Given the description of an element on the screen output the (x, y) to click on. 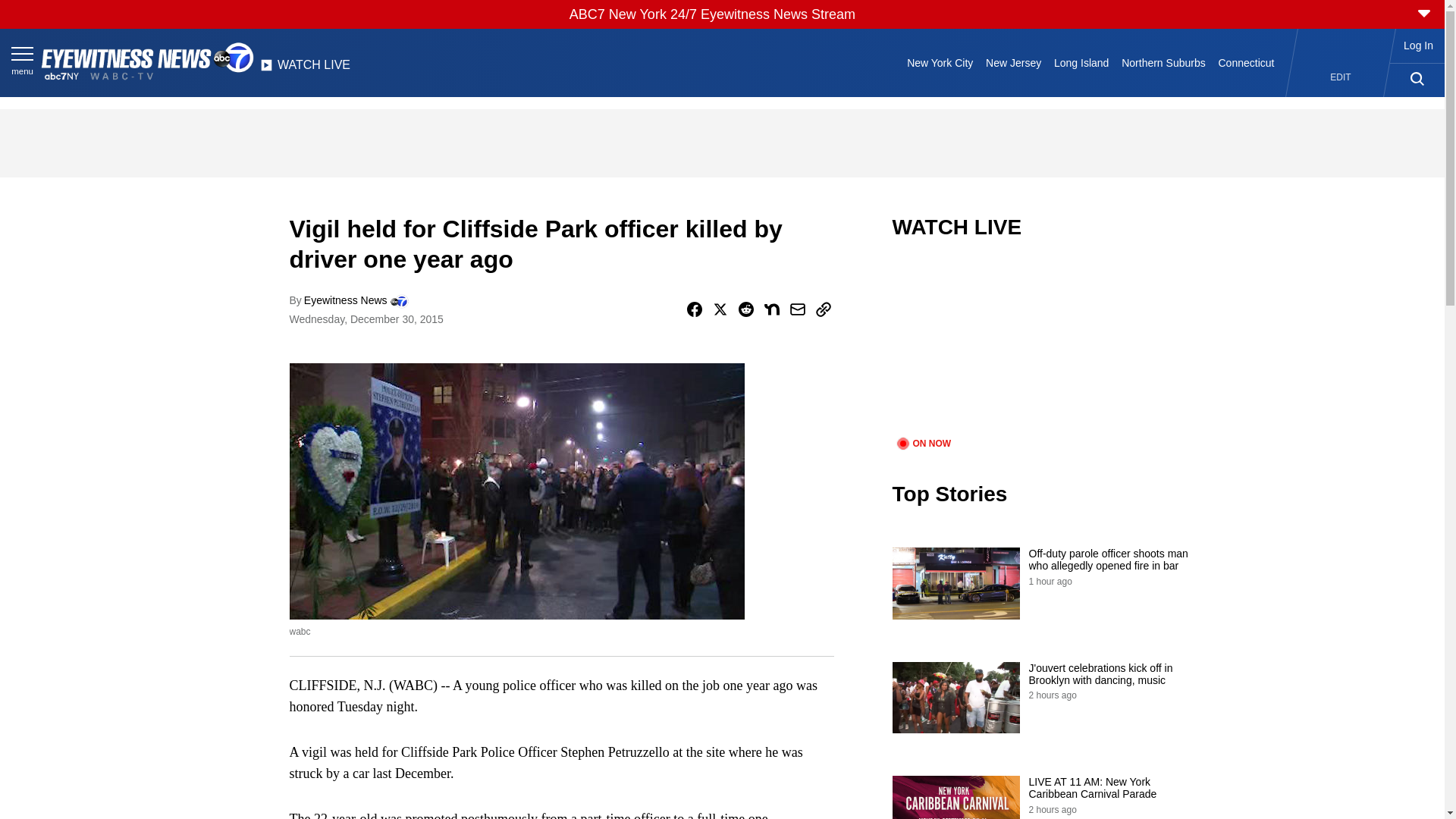
Northern Suburbs (1163, 62)
video.title (1043, 347)
EDIT (1340, 77)
Long Island (1081, 62)
New York City (940, 62)
New Jersey (1013, 62)
Connecticut (1246, 62)
WATCH LIVE (305, 69)
